Given the description of an element on the screen output the (x, y) to click on. 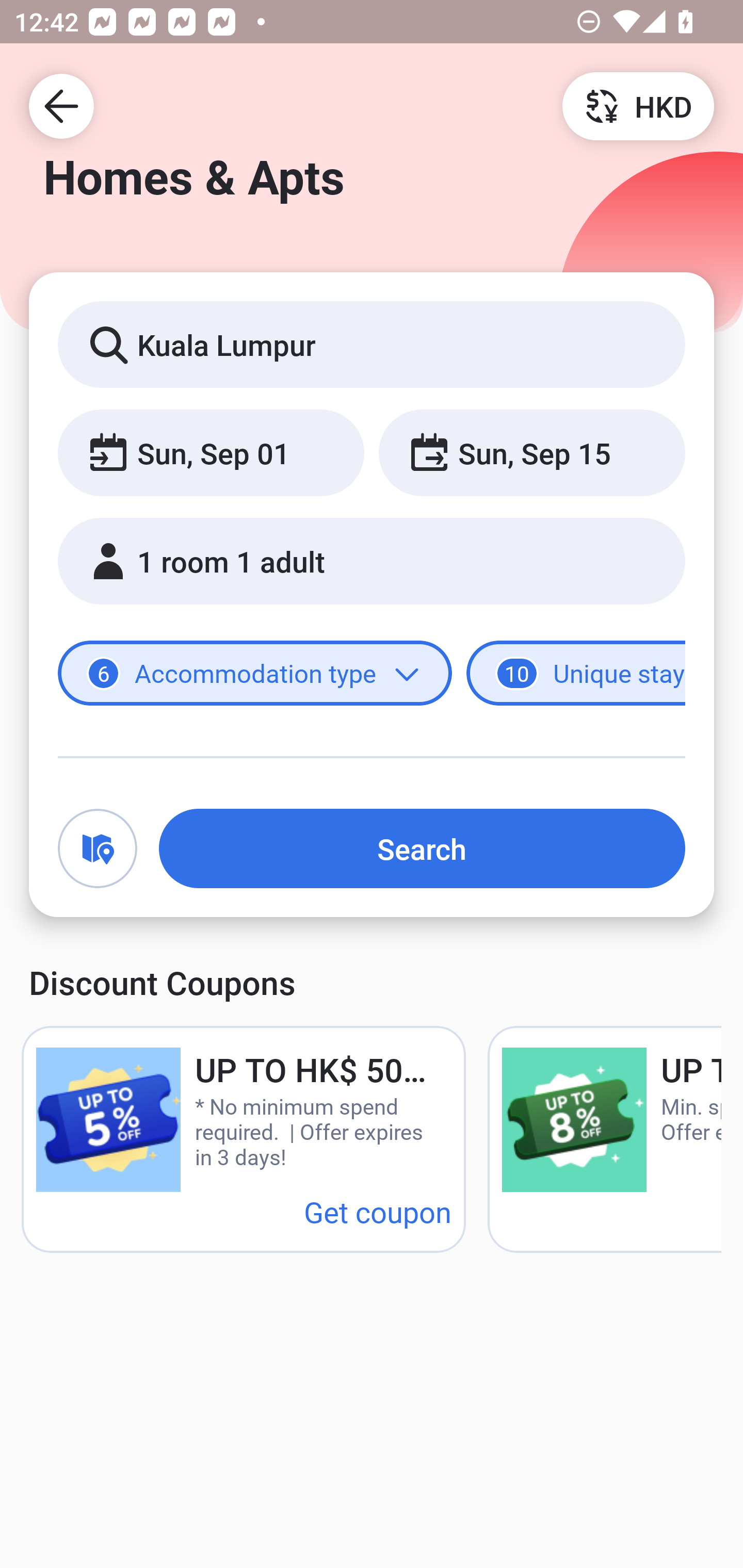
HKD (638, 105)
Kuala Lumpur (371, 344)
Sun, Sep 01 (210, 452)
Sun, Sep 15 (531, 452)
1 room 1 adult (371, 561)
6 Accommodation type (254, 673)
10 Unique stays (575, 673)
Search (422, 848)
Get coupon (377, 1211)
